Given the description of an element on the screen output the (x, y) to click on. 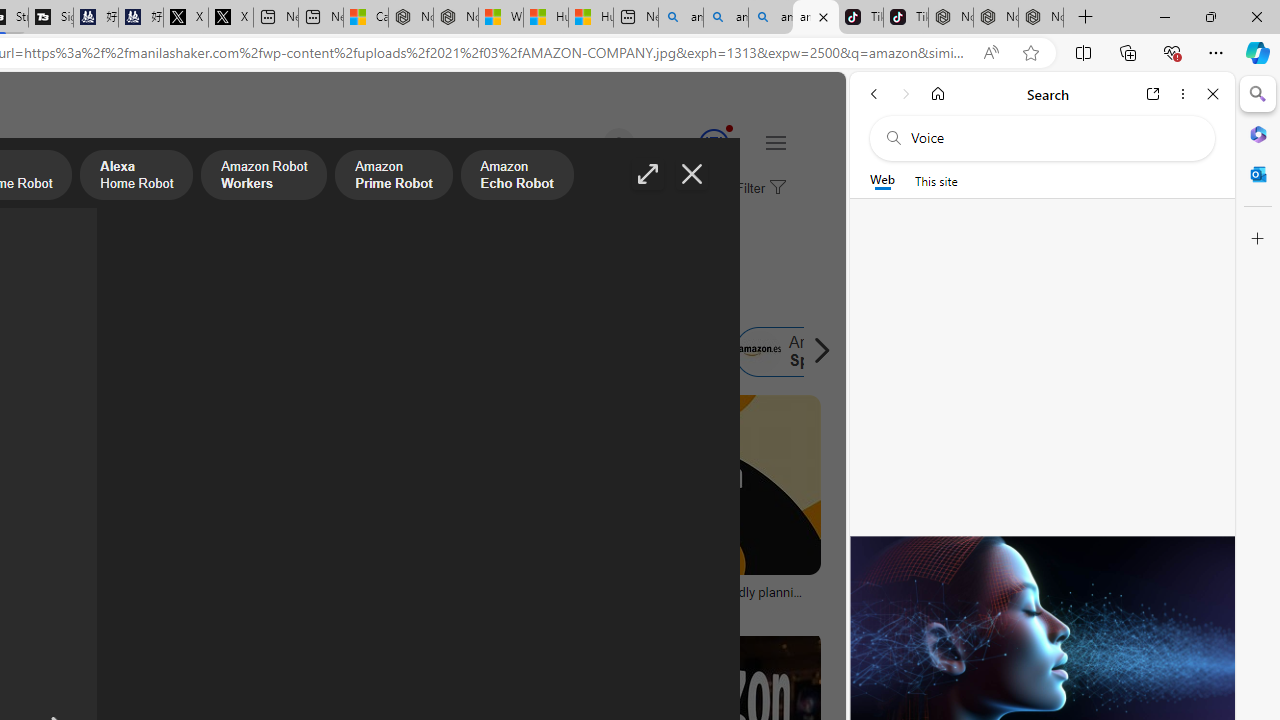
Eugene (590, 143)
Amazon Forest (475, 351)
Customize (1258, 239)
